Given the description of an element on the screen output the (x, y) to click on. 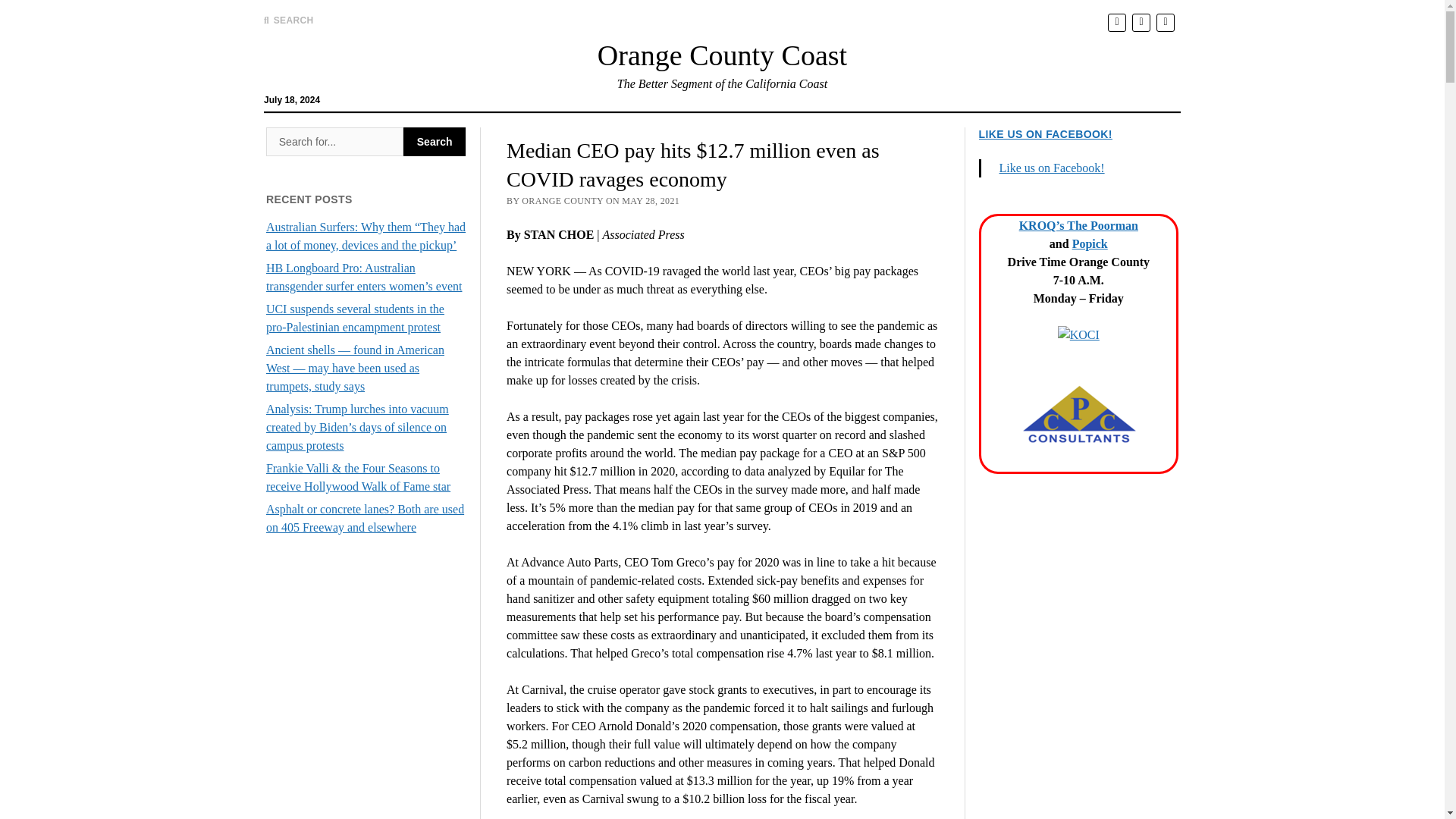
Search (945, 129)
facebook (1140, 21)
instagram (1165, 21)
Search (434, 141)
Orange County Coast (721, 55)
Search (434, 141)
Search (334, 141)
Search (434, 141)
SEARCH (288, 20)
